Given the description of an element on the screen output the (x, y) to click on. 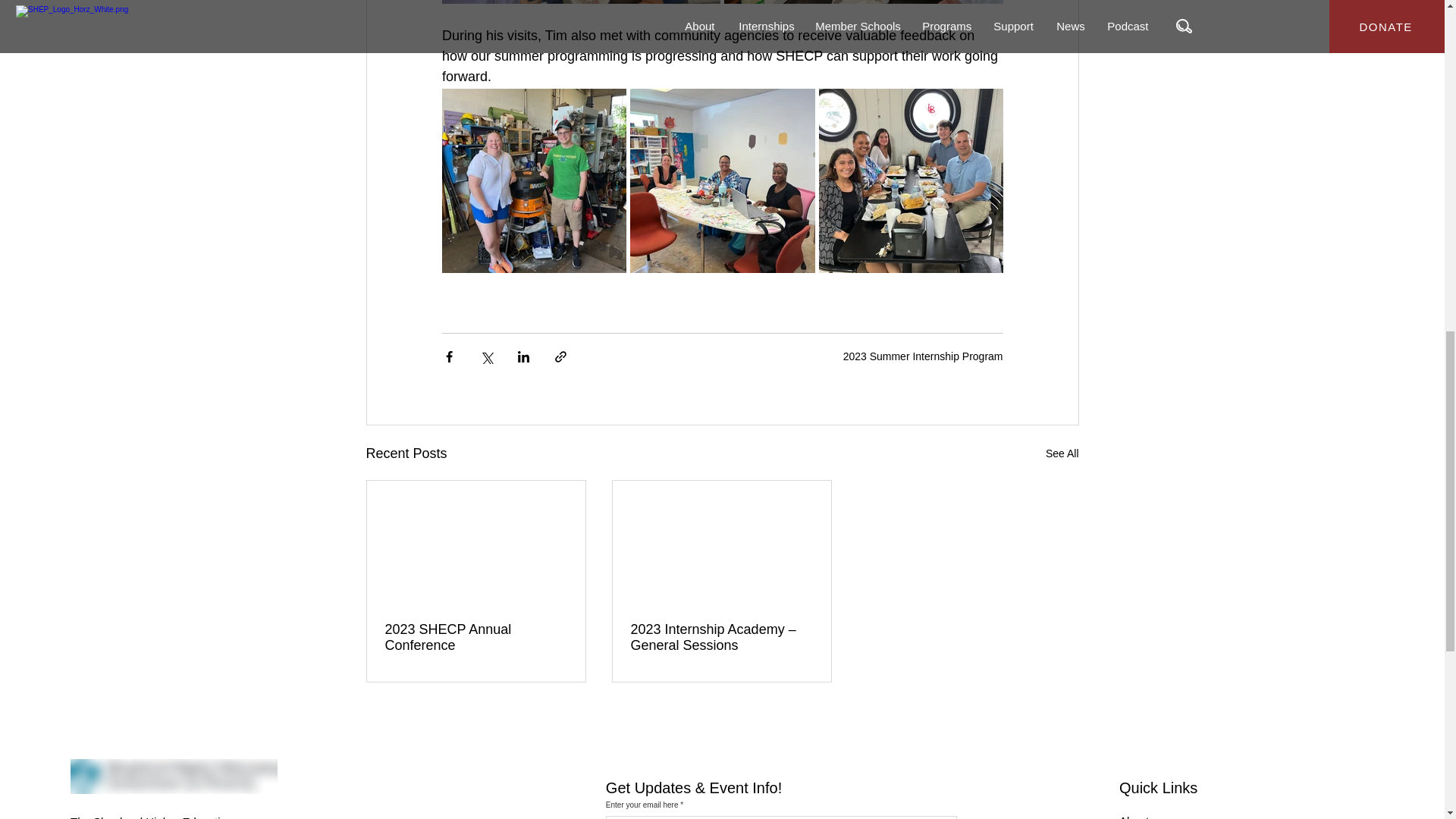
About (1133, 816)
See All (1061, 454)
2023 Summer Internship Program (923, 356)
2023 SHECP Annual Conference (476, 637)
